Given the description of an element on the screen output the (x, y) to click on. 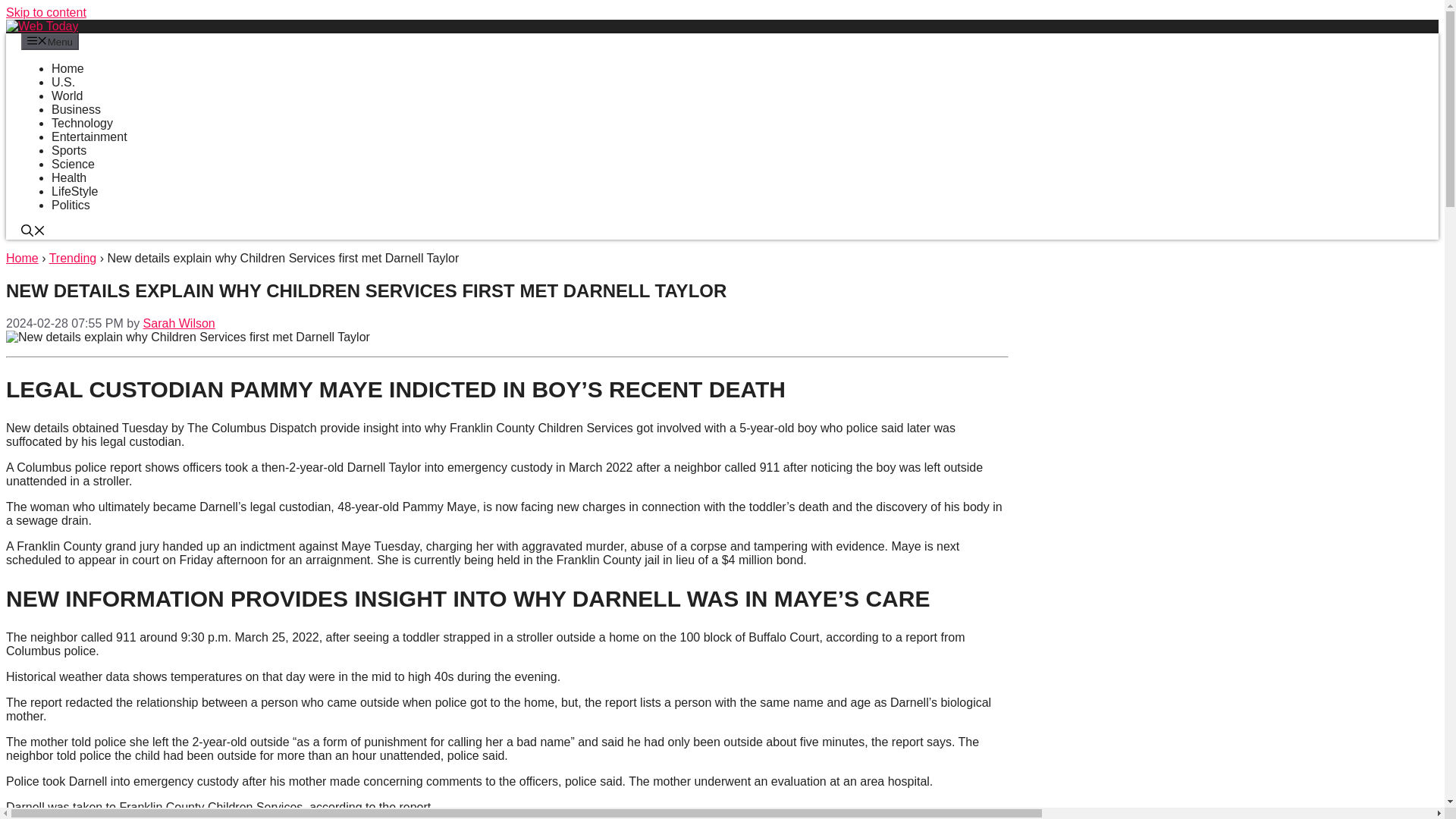
Science (72, 164)
Skip to content (45, 11)
Home (67, 68)
Politics (70, 205)
Technology (81, 123)
View all posts by Sarah Wilson (178, 323)
Skip to content (45, 11)
Sarah Wilson (178, 323)
Health (67, 177)
Trending (73, 257)
U.S. (62, 82)
LifeStyle (73, 191)
Entertainment (89, 136)
Business (75, 109)
